Given the description of an element on the screen output the (x, y) to click on. 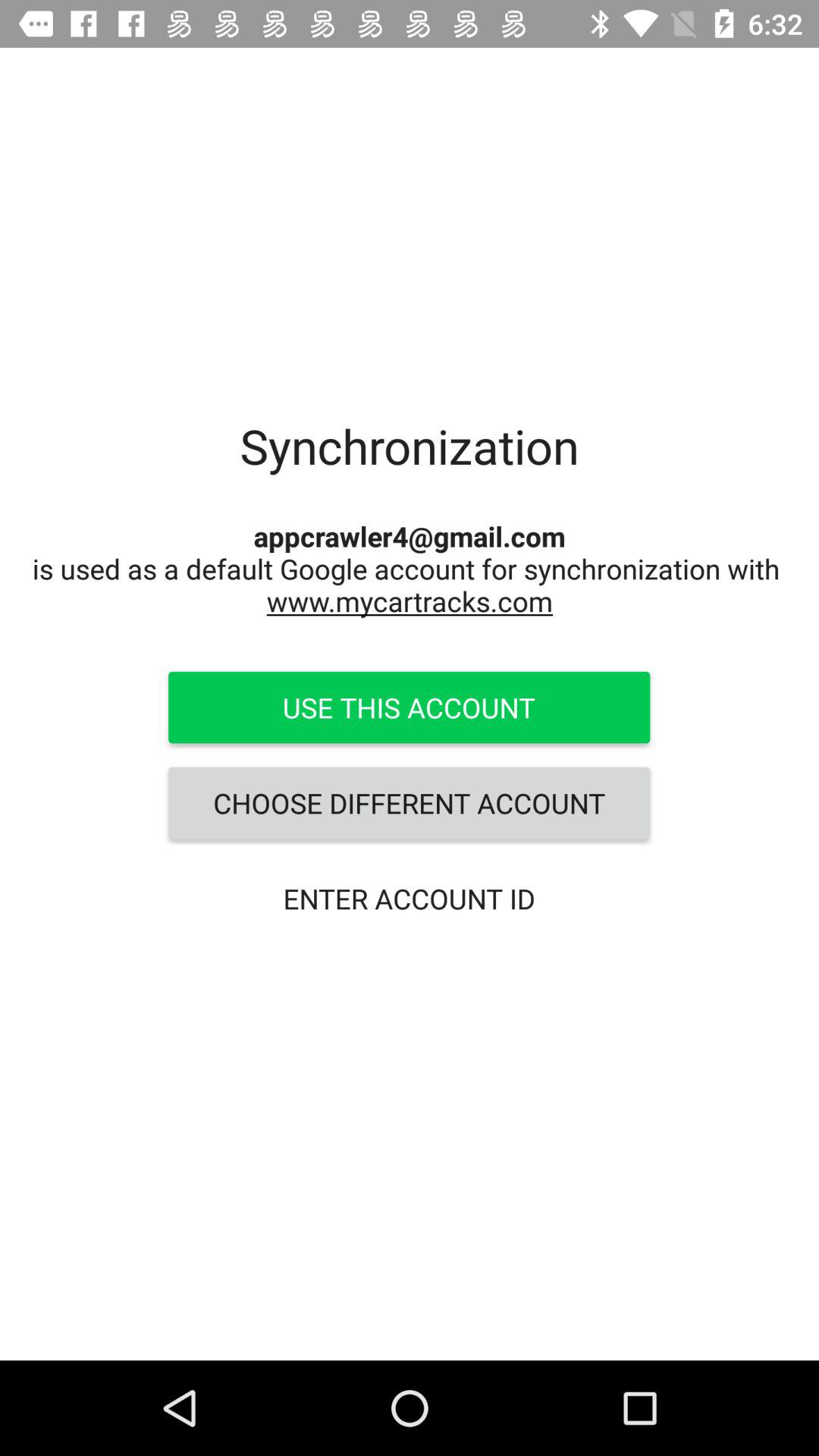
turn on the enter account id (409, 898)
